Given the description of an element on the screen output the (x, y) to click on. 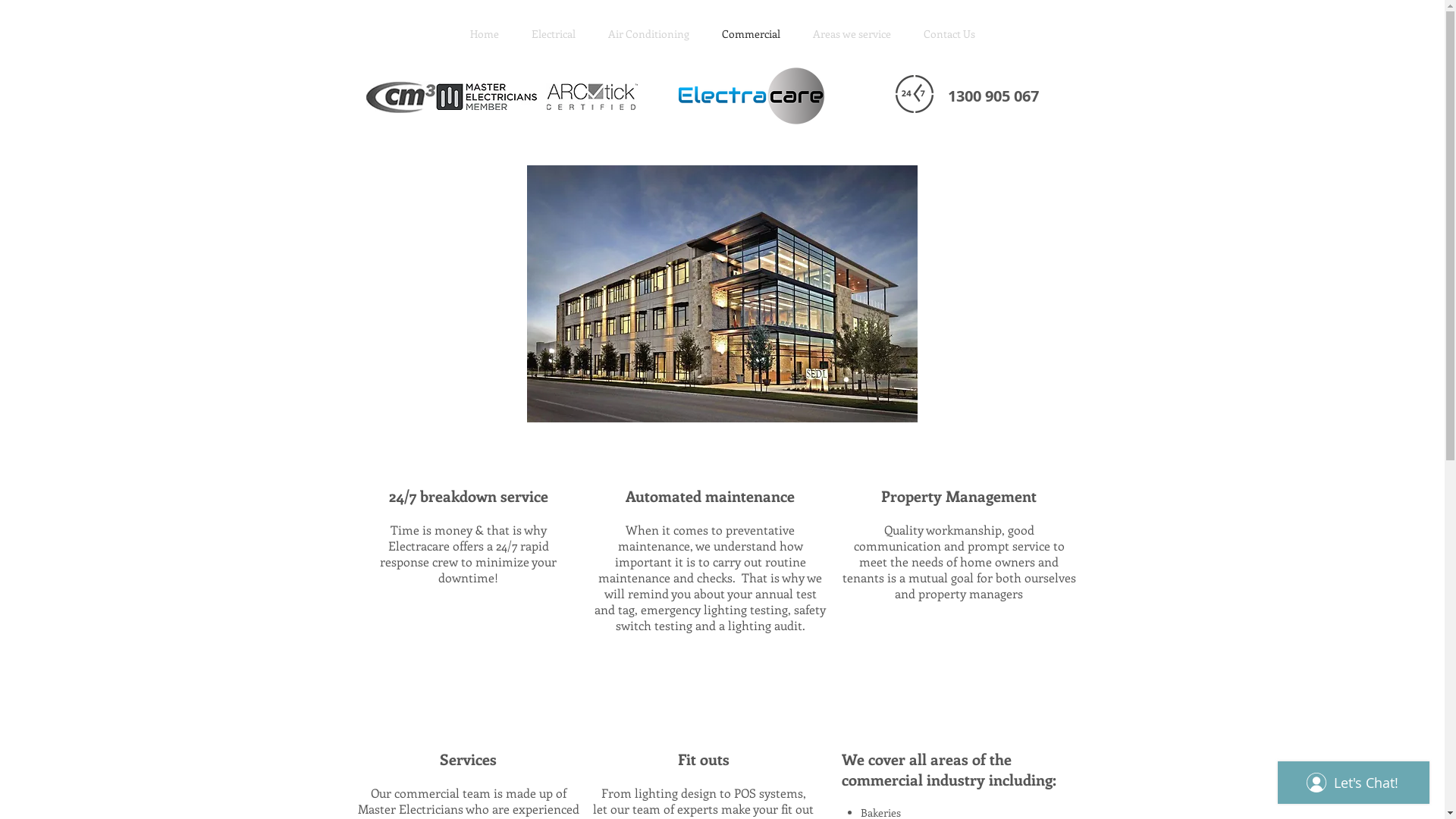
Electrical Element type: text (553, 34)
Areas we service Element type: text (851, 34)
Contact Us Element type: text (948, 34)
Air Conditioning Element type: text (648, 34)
Home Element type: text (483, 34)
Commercial Element type: text (750, 34)
